Given the description of an element on the screen output the (x, y) to click on. 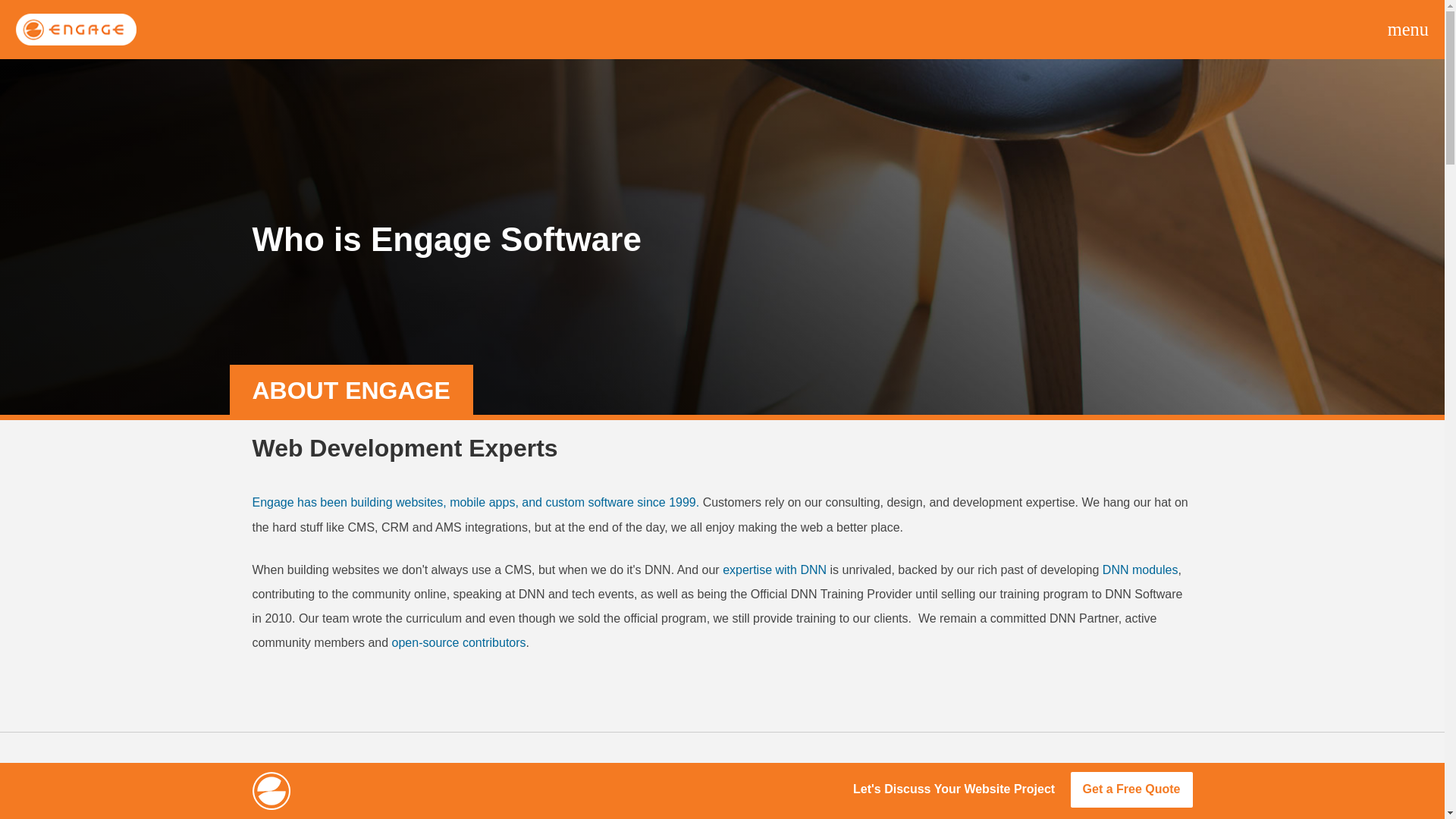
Get a Free Quote (1131, 789)
DNN modules (1139, 569)
open-source contributors (458, 642)
expertise with DNN (774, 569)
